Given the description of an element on the screen output the (x, y) to click on. 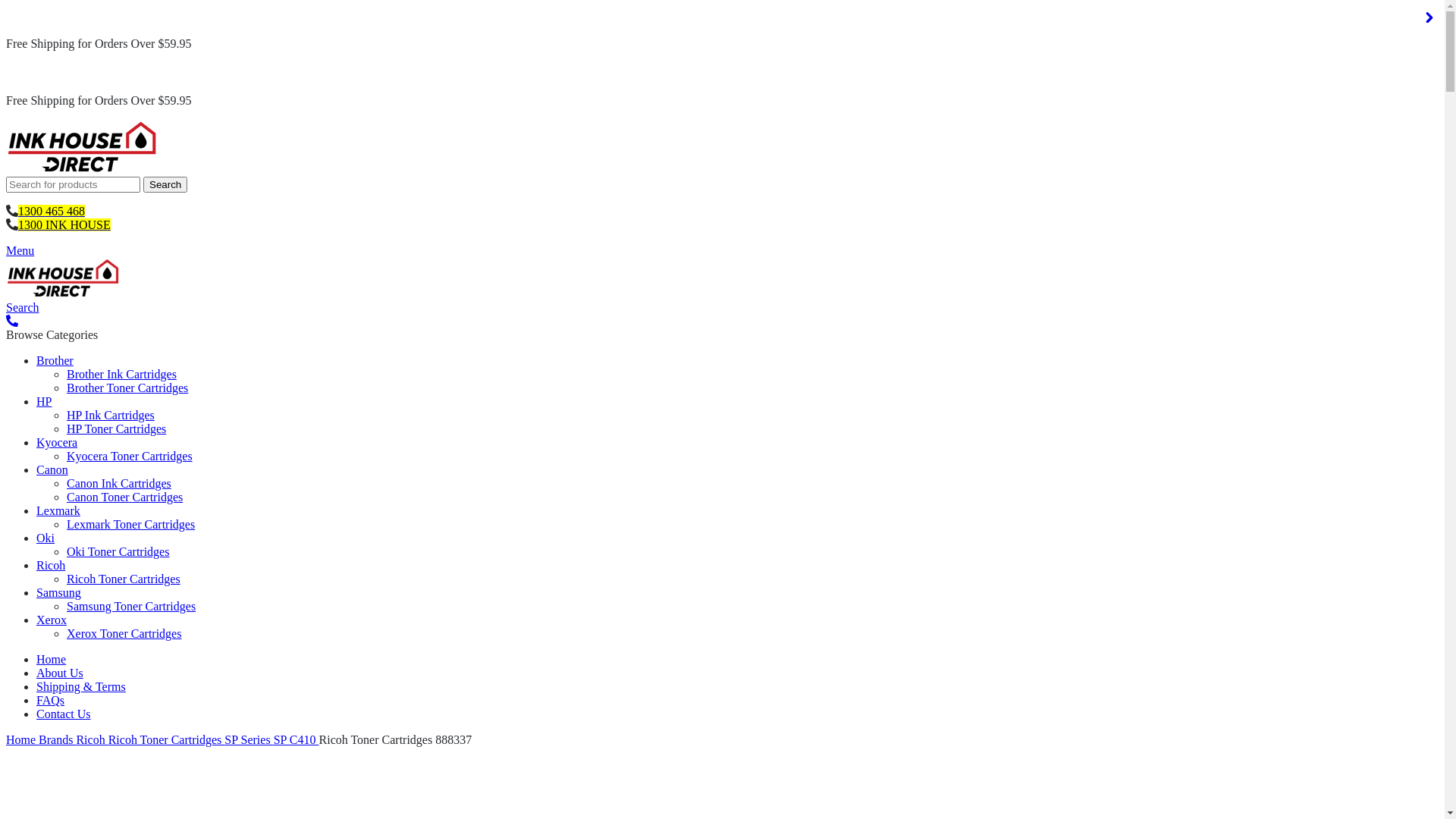
Menu Element type: text (20, 250)
Shipping & Terms Element type: text (80, 686)
Search for products Element type: hover (73, 184)
Search Element type: text (165, 184)
SP C410 Element type: text (296, 739)
Canon Ink Cartridges Element type: text (118, 482)
Search Element type: text (22, 307)
Canon Element type: text (52, 469)
Contact Us Element type: text (63, 713)
Brands Element type: text (56, 739)
Oki Toner Cartridges Element type: text (117, 551)
Ricoh Element type: text (50, 564)
HP Toner Cartridges Element type: text (116, 428)
Kyocera Toner Cartridges Element type: text (129, 455)
Brother Ink Cartridges Element type: text (121, 373)
Ricoh Element type: text (91, 739)
Xerox Toner Cartridges Element type: text (123, 633)
Xerox Element type: text (51, 619)
Oki Element type: text (45, 537)
Lexmark Toner Cartridges Element type: text (130, 523)
Ricoh Toner Cartridges Element type: text (123, 578)
Ricoh Toner Cartridges Element type: text (166, 739)
Lexmark Element type: text (58, 510)
Brother Element type: text (54, 360)
Samsung Toner Cartridges Element type: text (130, 605)
1300 465 468 Element type: text (51, 210)
Kyocera Element type: text (56, 442)
Home Element type: text (22, 739)
Samsung Element type: text (58, 592)
FAQs Element type: text (50, 699)
Brother Toner Cartridges Element type: text (127, 387)
1300 INK HOUSE Element type: text (64, 224)
Canon Toner Cartridges Element type: text (124, 496)
HP Ink Cartridges Element type: text (110, 414)
HP Element type: text (43, 401)
SP Series Element type: text (248, 739)
Home Element type: text (50, 658)
About Us Element type: text (59, 672)
